Given the description of an element on the screen output the (x, y) to click on. 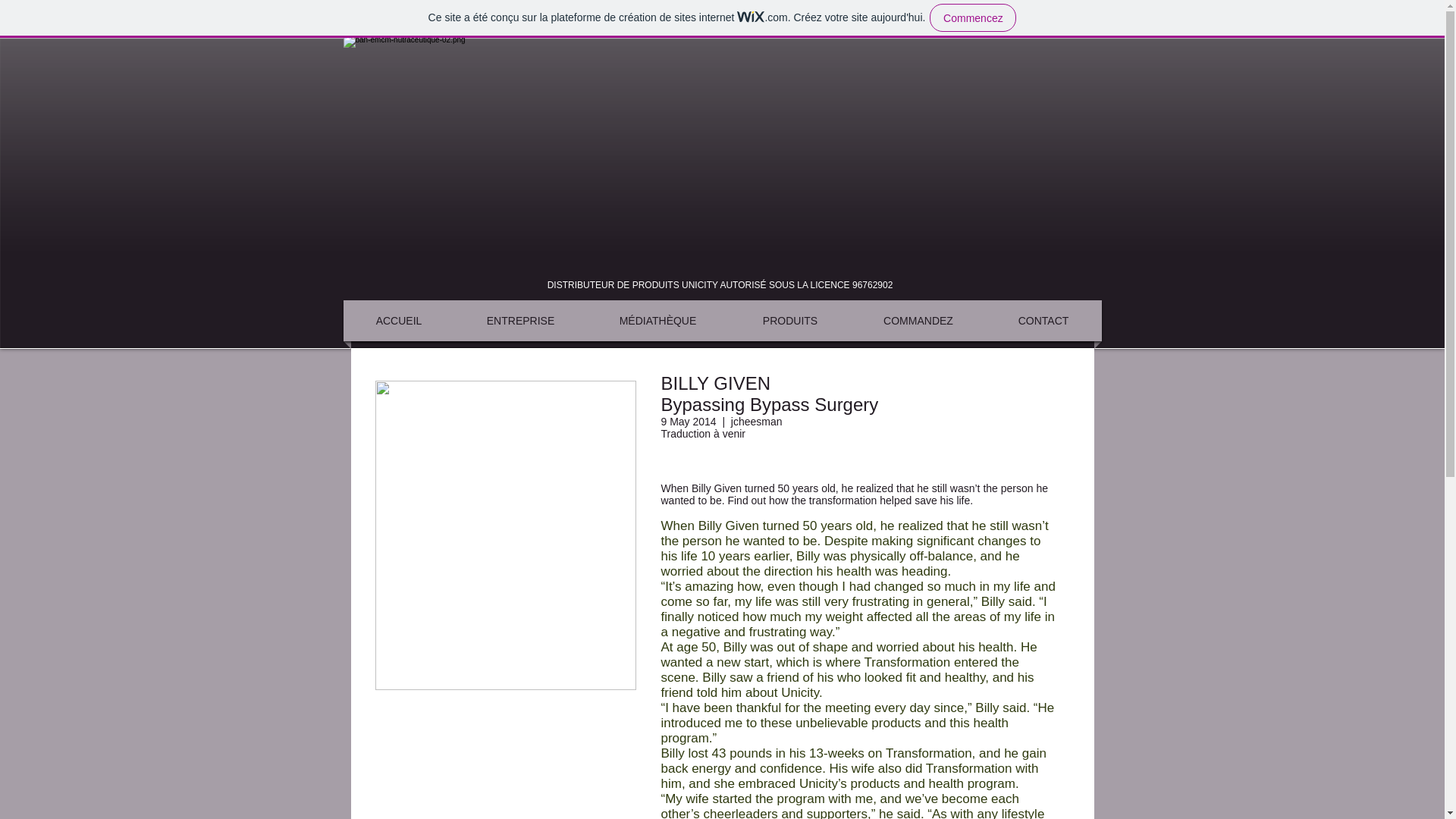
ENTREPRISE (520, 320)
PRODUITS (789, 320)
ACCUEIL (399, 320)
COMMANDEZ (918, 320)
CONTACT (1042, 320)
